Given the description of an element on the screen output the (x, y) to click on. 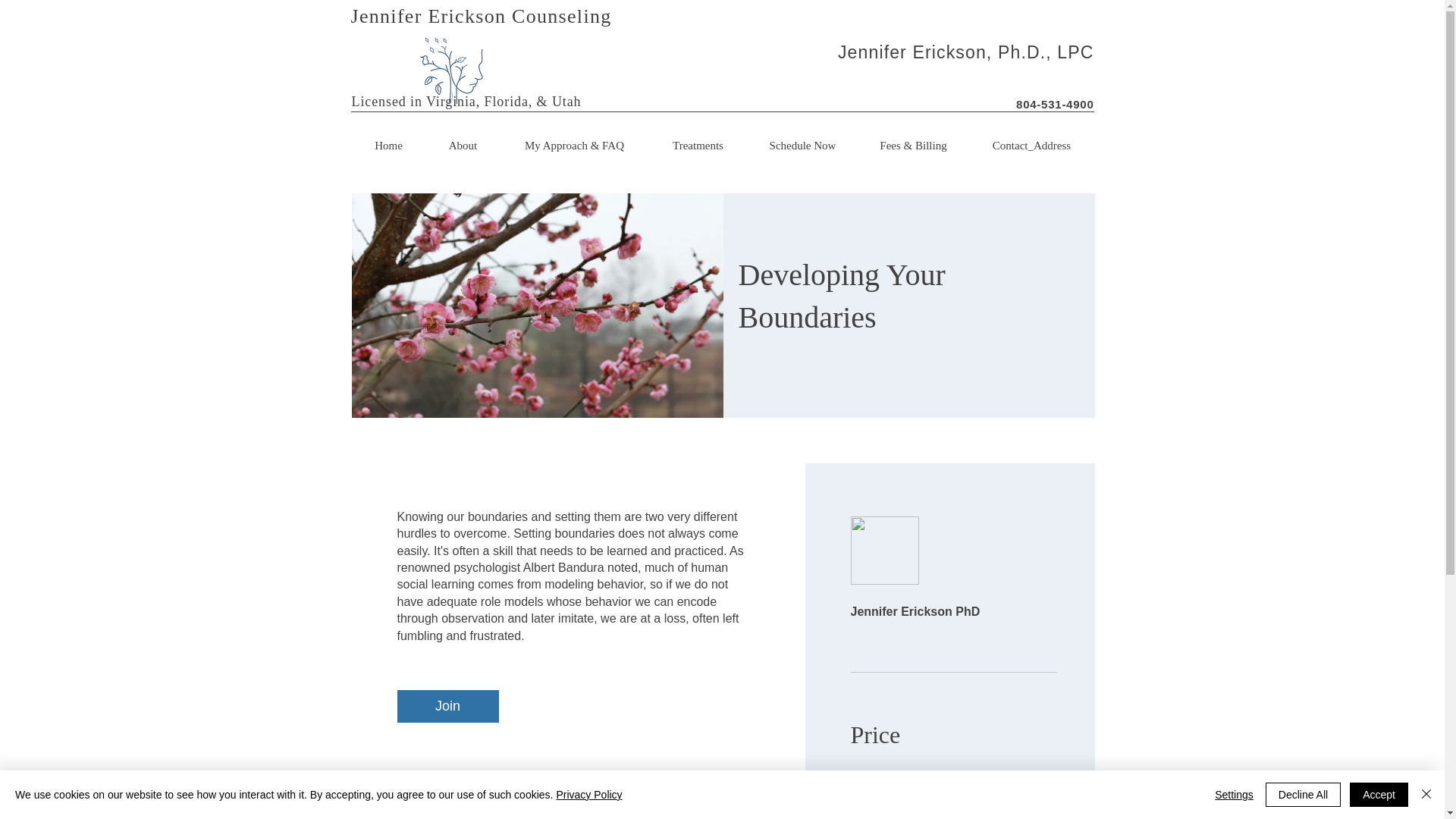
Accept (1378, 794)
About (463, 145)
Jennifer Erickson Counseling (480, 15)
Schedule Now (803, 145)
804-531-4900 (1054, 103)
Jennifer Erickson PhD (953, 571)
Join (448, 706)
Decline All (1302, 794)
Home (389, 145)
Privacy Policy (588, 794)
Treatments (698, 145)
Jennifer Erickson, Ph.D., LPC (966, 52)
